Given the description of an element on the screen output the (x, y) to click on. 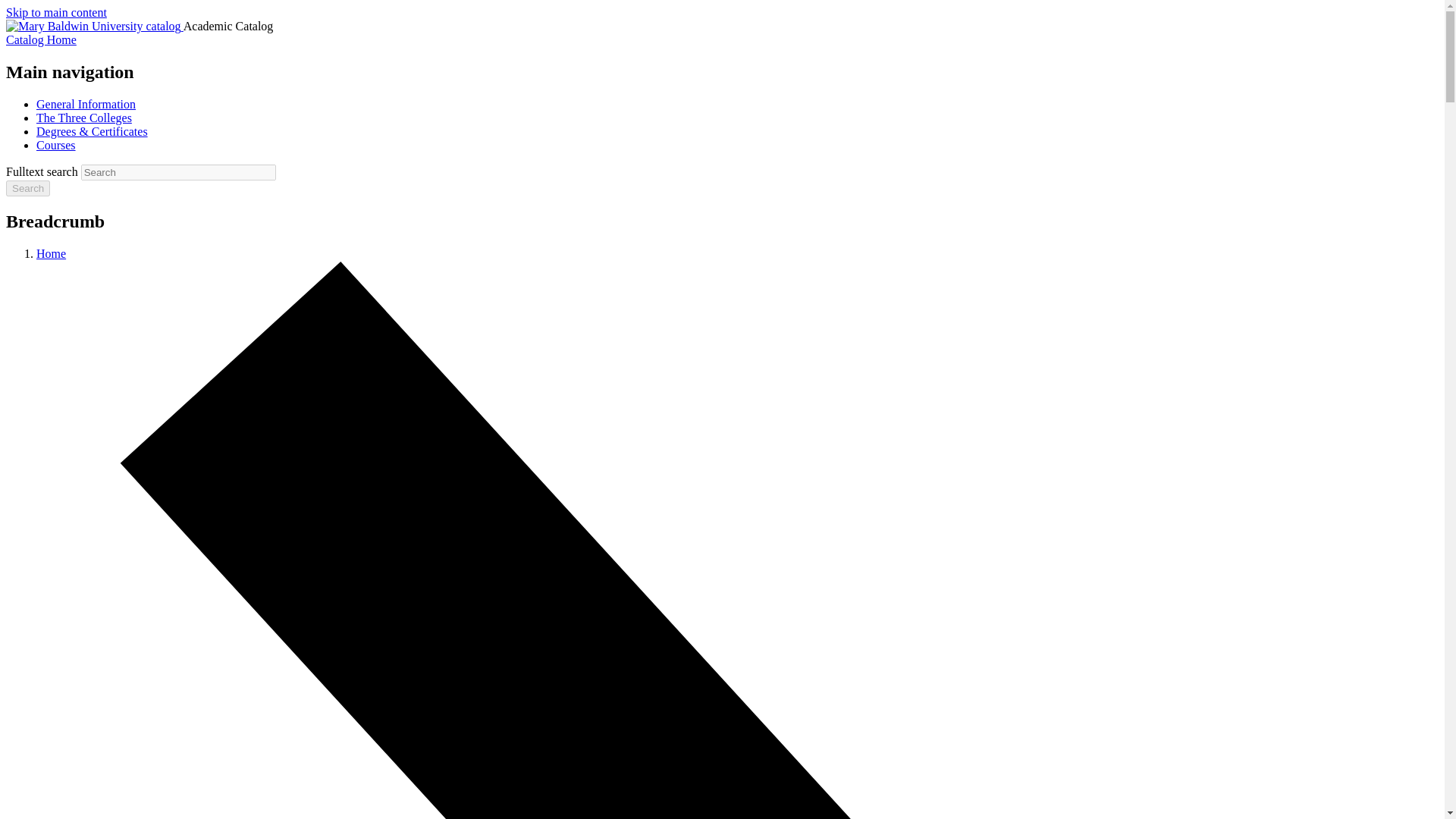
Catalog Home (41, 39)
Search (27, 188)
Skip to main content (55, 11)
The Three Colleges (84, 117)
General Information (85, 103)
Search (27, 188)
Courses (55, 144)
